Given the description of an element on the screen output the (x, y) to click on. 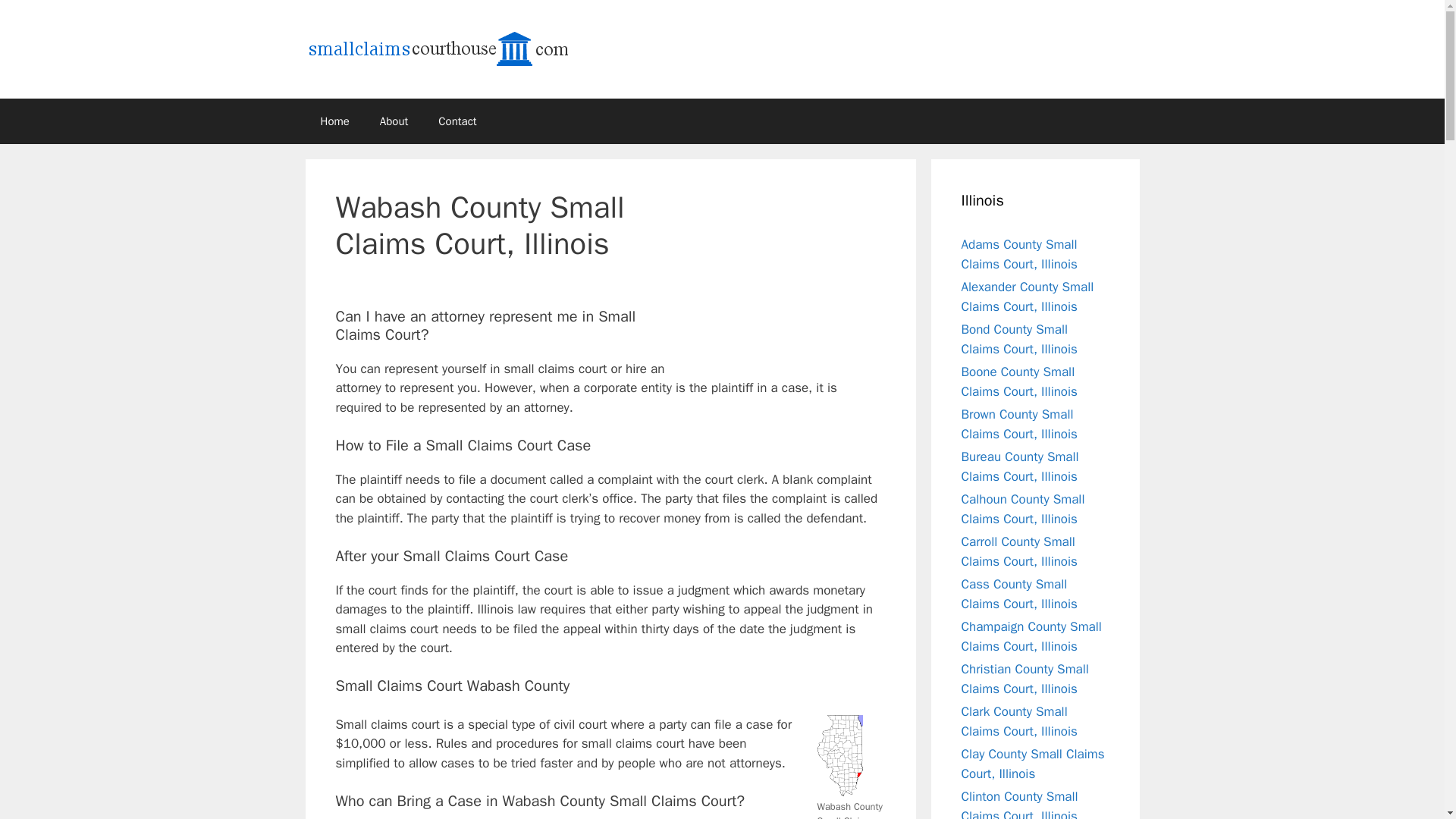
Small Claims Courthouse (456, 48)
Clark County Small Claims Court, Illinois (1018, 721)
Contact (457, 121)
Champaign County Small Claims Court, Illinois (1031, 636)
Adams County Small Claims Court, Illinois (1018, 253)
Cass County Small Claims Court, Illinois (1018, 593)
Brown County Small Claims Court, Illinois (1018, 424)
Calhoun County Small Claims Court, Illinois (1022, 509)
Small Claims Courthouse (456, 48)
Bureau County Small Claims Court, Illinois (1019, 466)
